Given the description of an element on the screen output the (x, y) to click on. 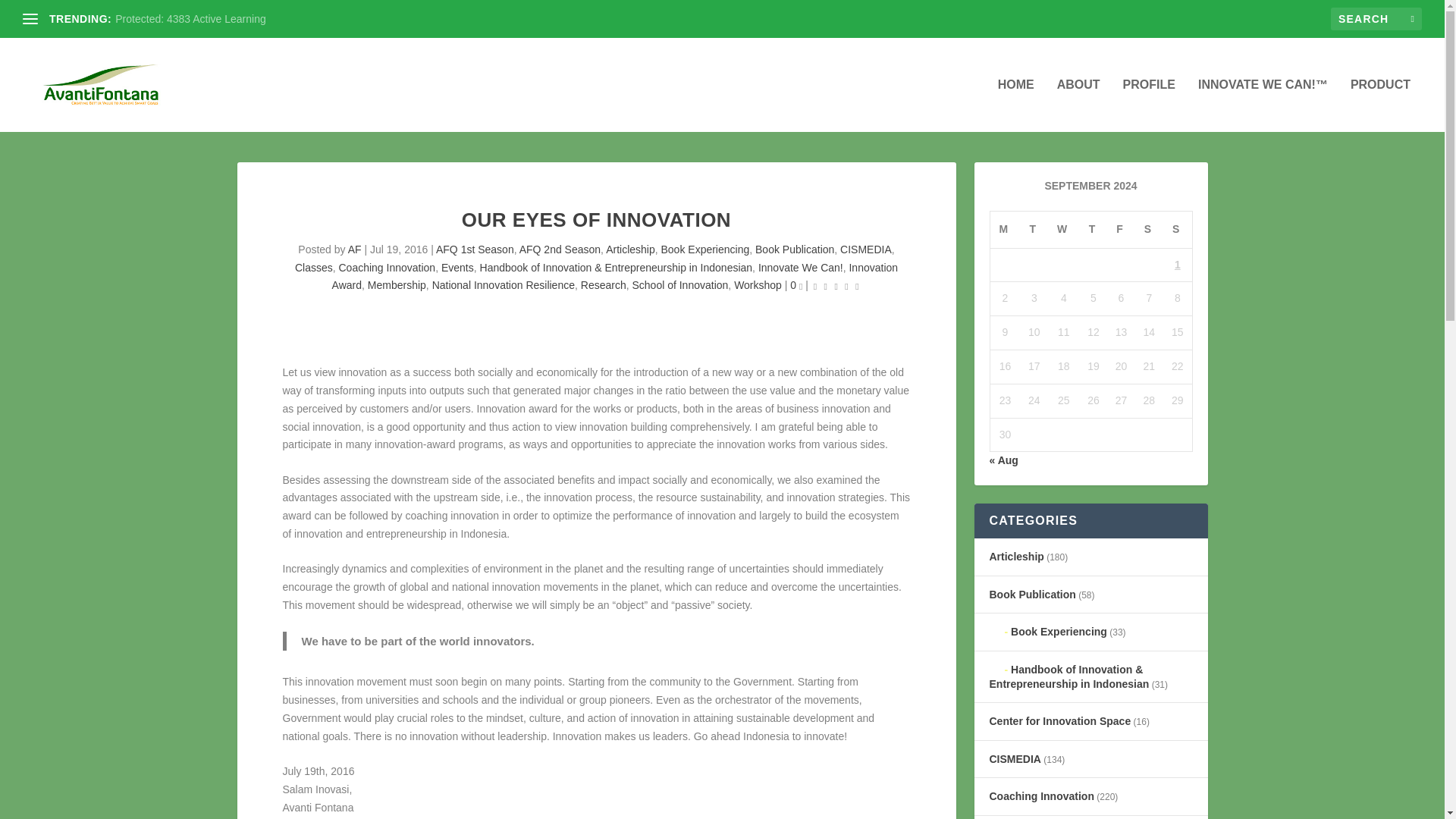
CISMEDIA (865, 249)
National Innovation Resilience (503, 285)
Classes (314, 267)
PROFILE (1148, 104)
Events (457, 267)
Articleship (630, 249)
Posts by AF (354, 249)
AF (354, 249)
Book Experiencing (705, 249)
Workshop (757, 285)
